Given the description of an element on the screen output the (x, y) to click on. 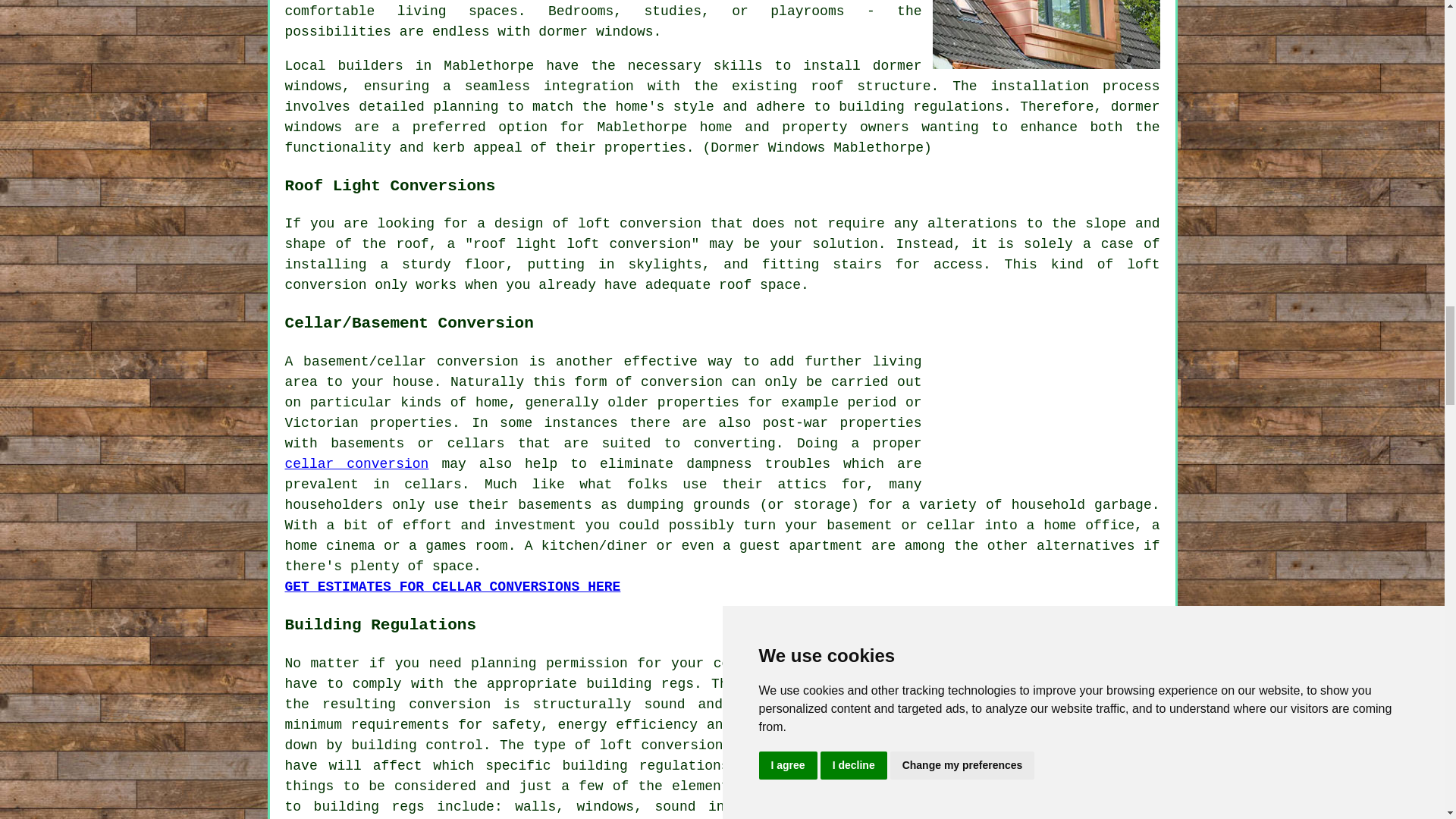
Building Regulations Loft Conversion Mablethorpe (1046, 728)
Dormer Windows Mablethorpe (1046, 34)
